Given the description of an element on the screen output the (x, y) to click on. 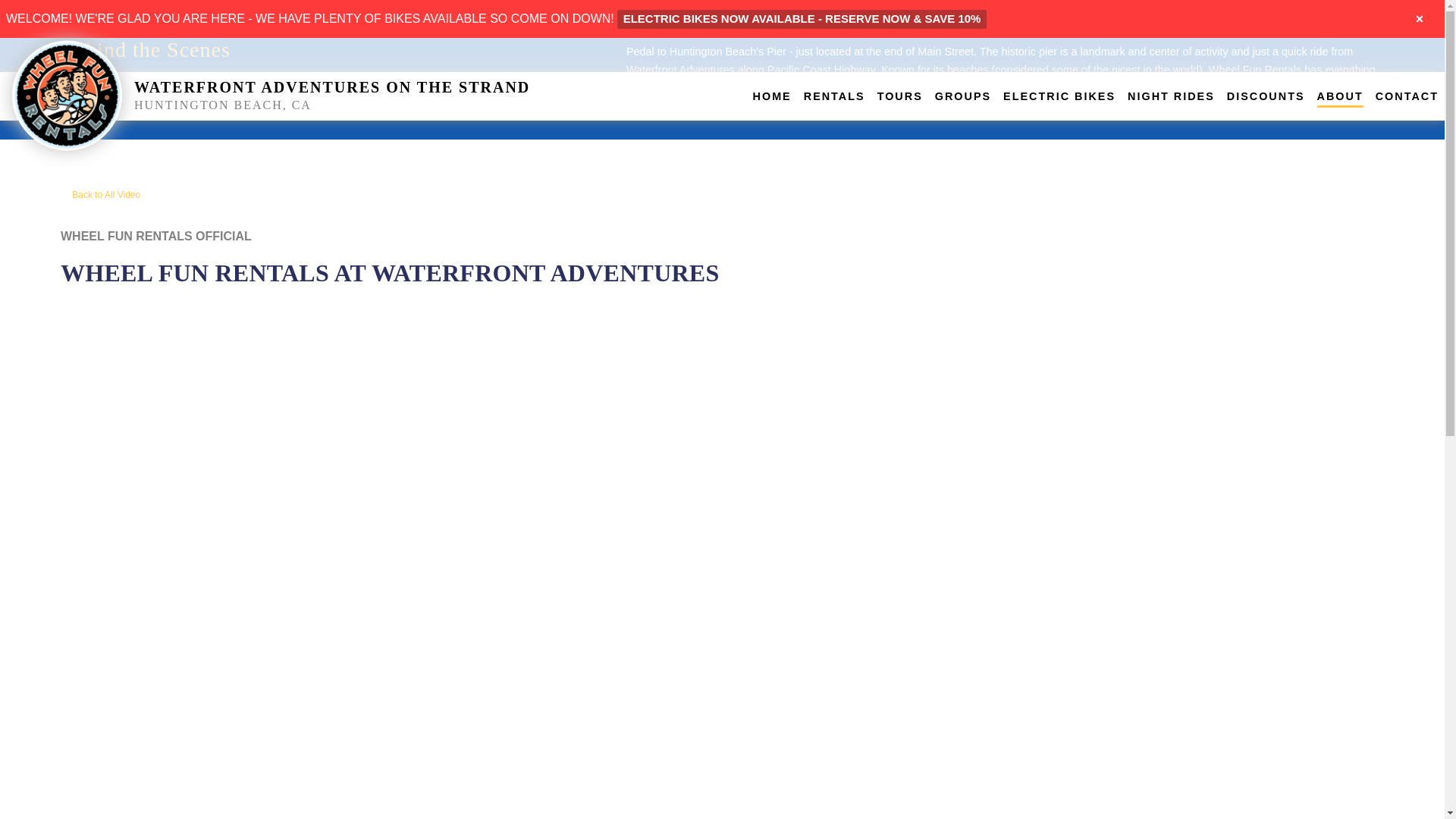
TOURS (900, 96)
Wheel Fun Rentals (66, 94)
RENTALS (833, 96)
WATERFRONT ADVENTURES ON THE STRAND (331, 86)
HOME (772, 96)
ABOUT (1339, 96)
CONTACT (1406, 96)
NIGHT RIDES (1170, 96)
GROUPS (962, 96)
Back to All Video (100, 194)
HUNTINGTON BEACH, CA (434, 105)
ELECTRIC BIKES (1059, 96)
DISCOUNTS (1265, 96)
